Given the description of an element on the screen output the (x, y) to click on. 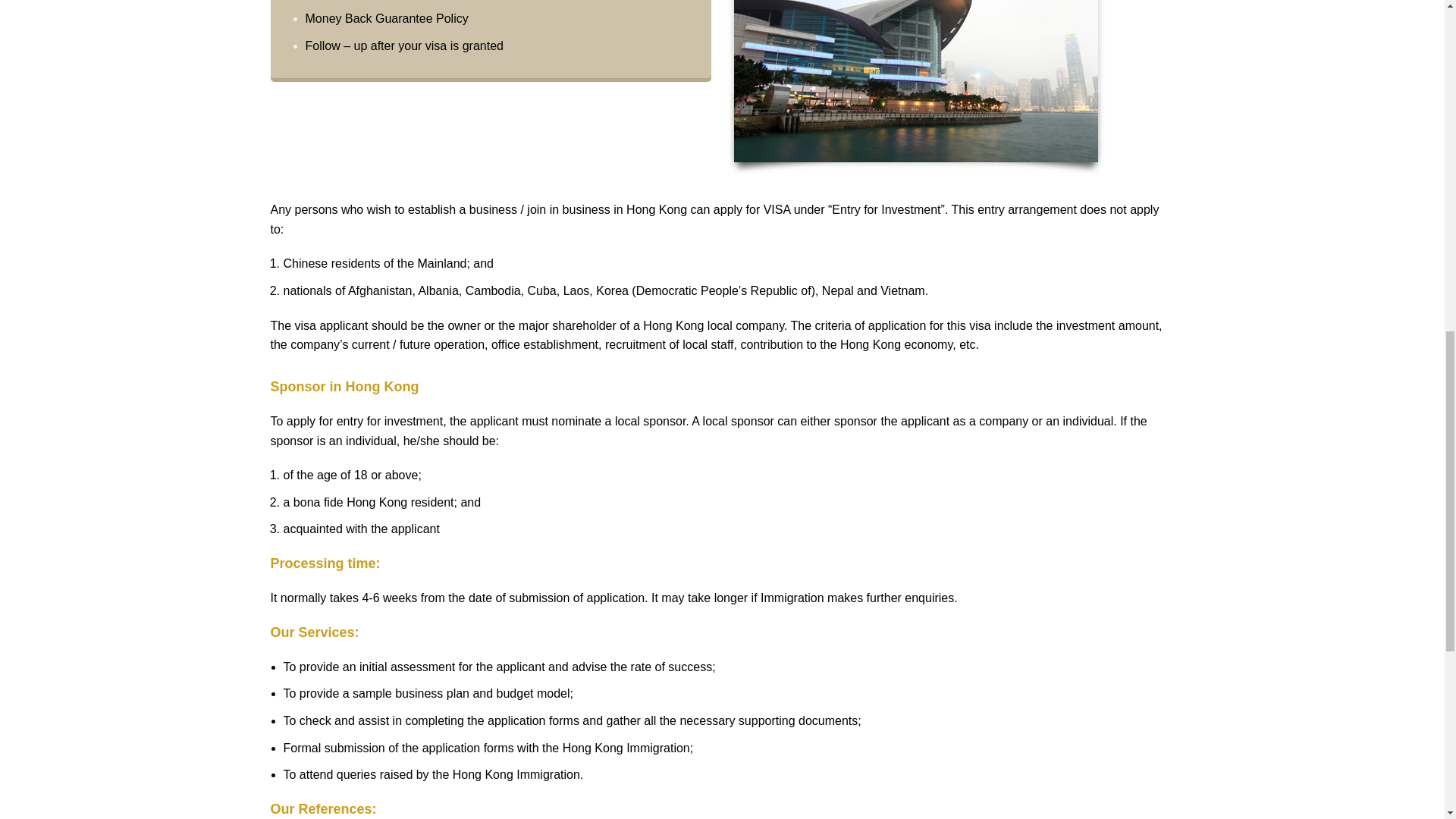
a048 (915, 81)
